Given the description of an element on the screen output the (x, y) to click on. 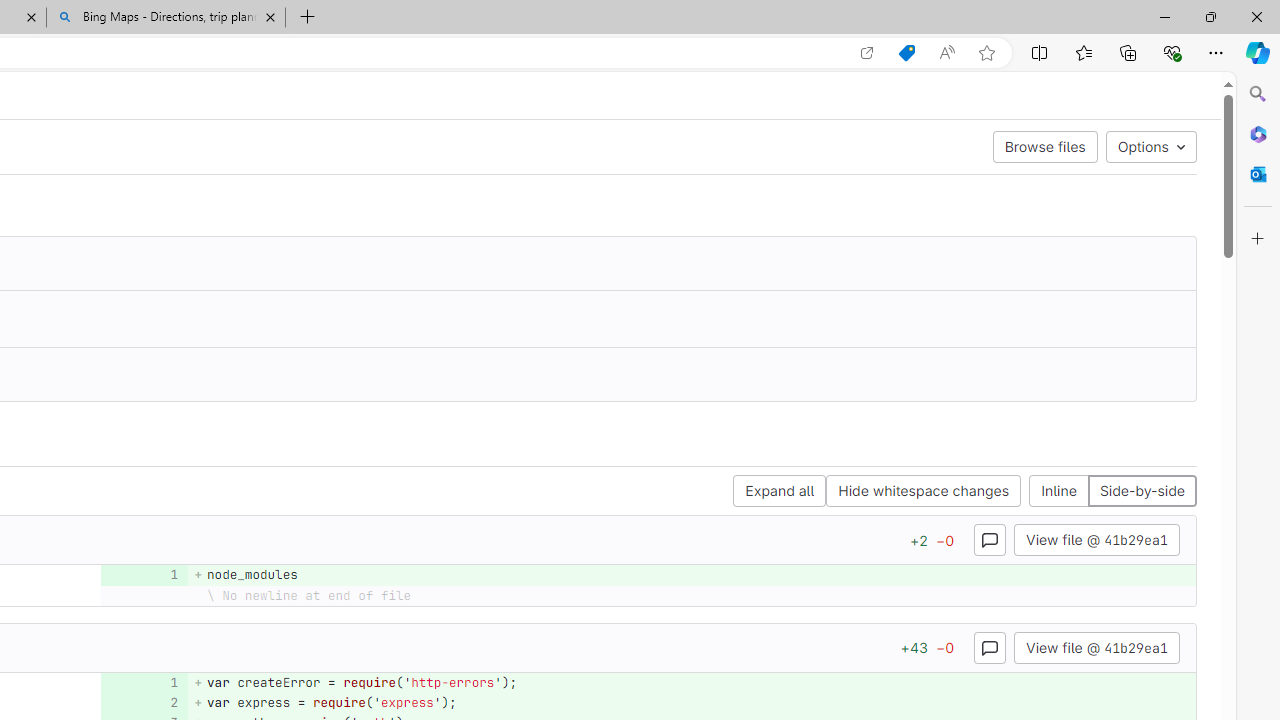
Browse files (1045, 146)
Add a comment to this line 1 (144, 681)
View file @ 41b29ea1 (1096, 646)
Inline (1059, 491)
Shopping in Microsoft Edge (906, 53)
Expand all (779, 491)
Options (1150, 146)
Add a comment to this line 2 (144, 701)
